Given the description of an element on the screen output the (x, y) to click on. 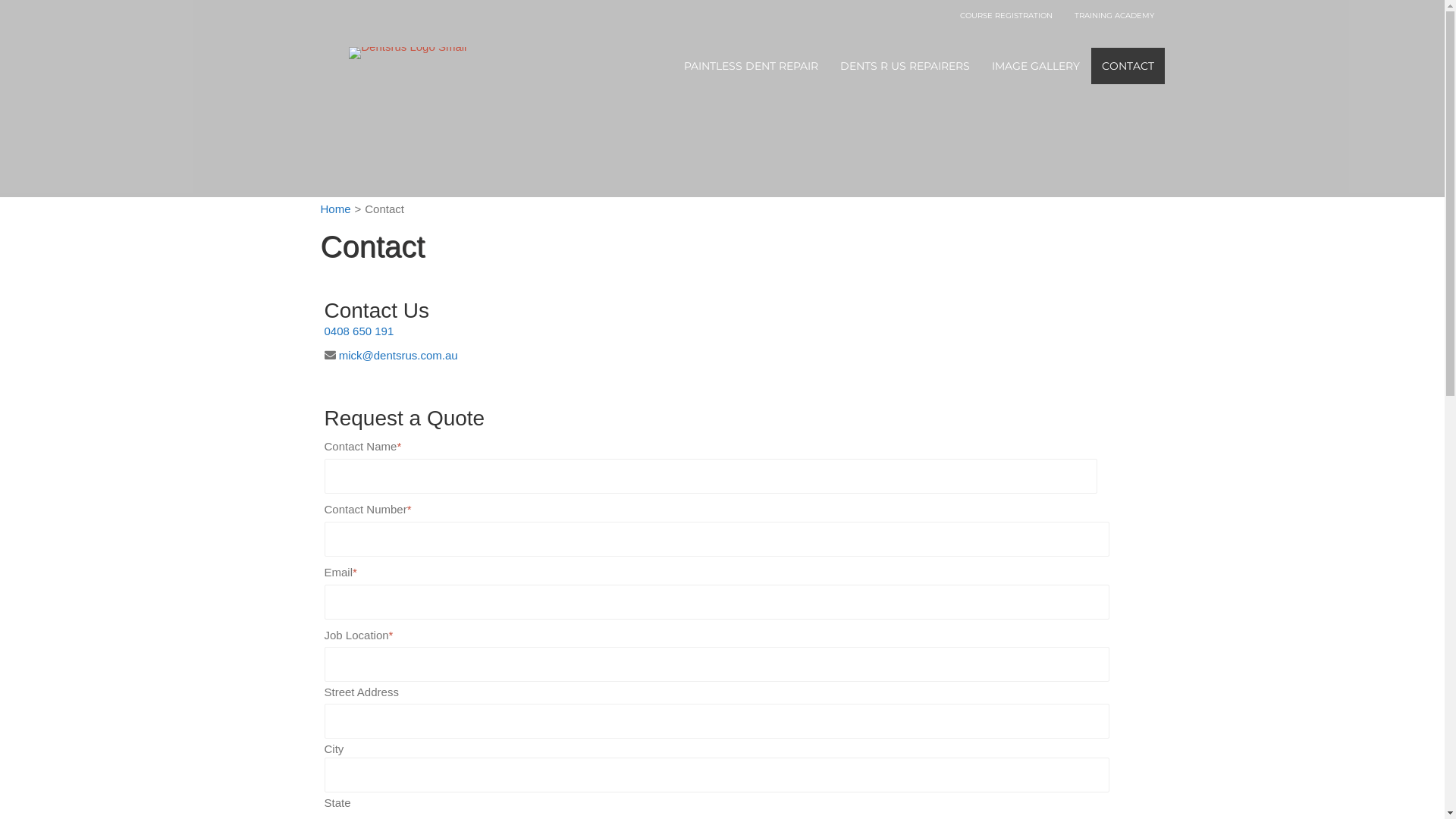
0408 650 191 Element type: text (359, 330)
IMAGE GALLERY Element type: text (1035, 65)
Home Element type: text (335, 208)
mick@dentsrus.com.au Element type: text (398, 354)
TRAINING ACADEMY Element type: text (1113, 16)
CONTACT Element type: text (1127, 65)
Dentsrus Logo Small Element type: hover (407, 53)
COURSE REGISTRATION Element type: text (1006, 16)
PAINTLESS DENT REPAIR Element type: text (750, 65)
DENTS R US REPAIRERS Element type: text (904, 65)
